Given the description of an element on the screen output the (x, y) to click on. 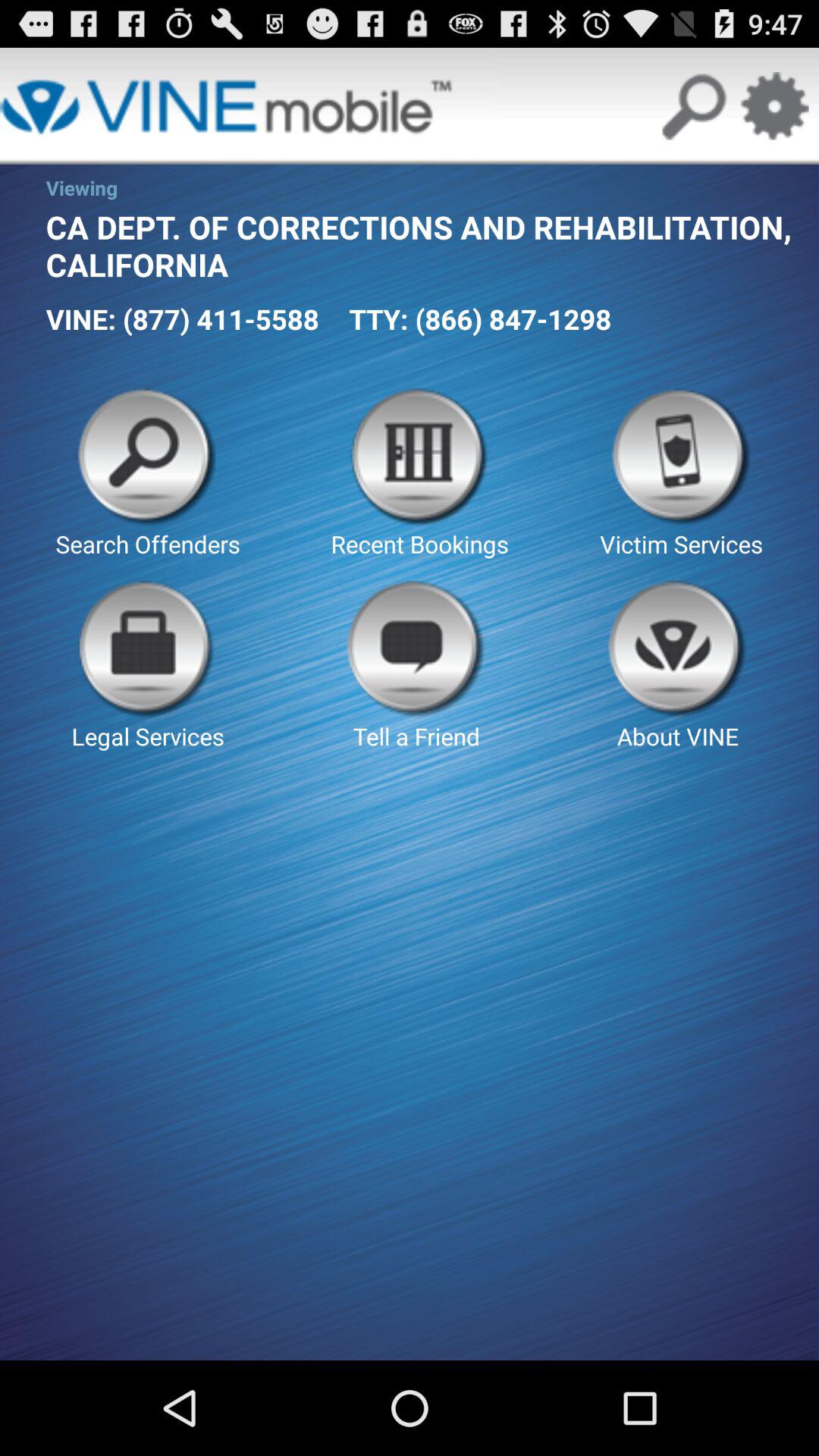
launch the item below search offenders icon (416, 666)
